Given the description of an element on the screen output the (x, y) to click on. 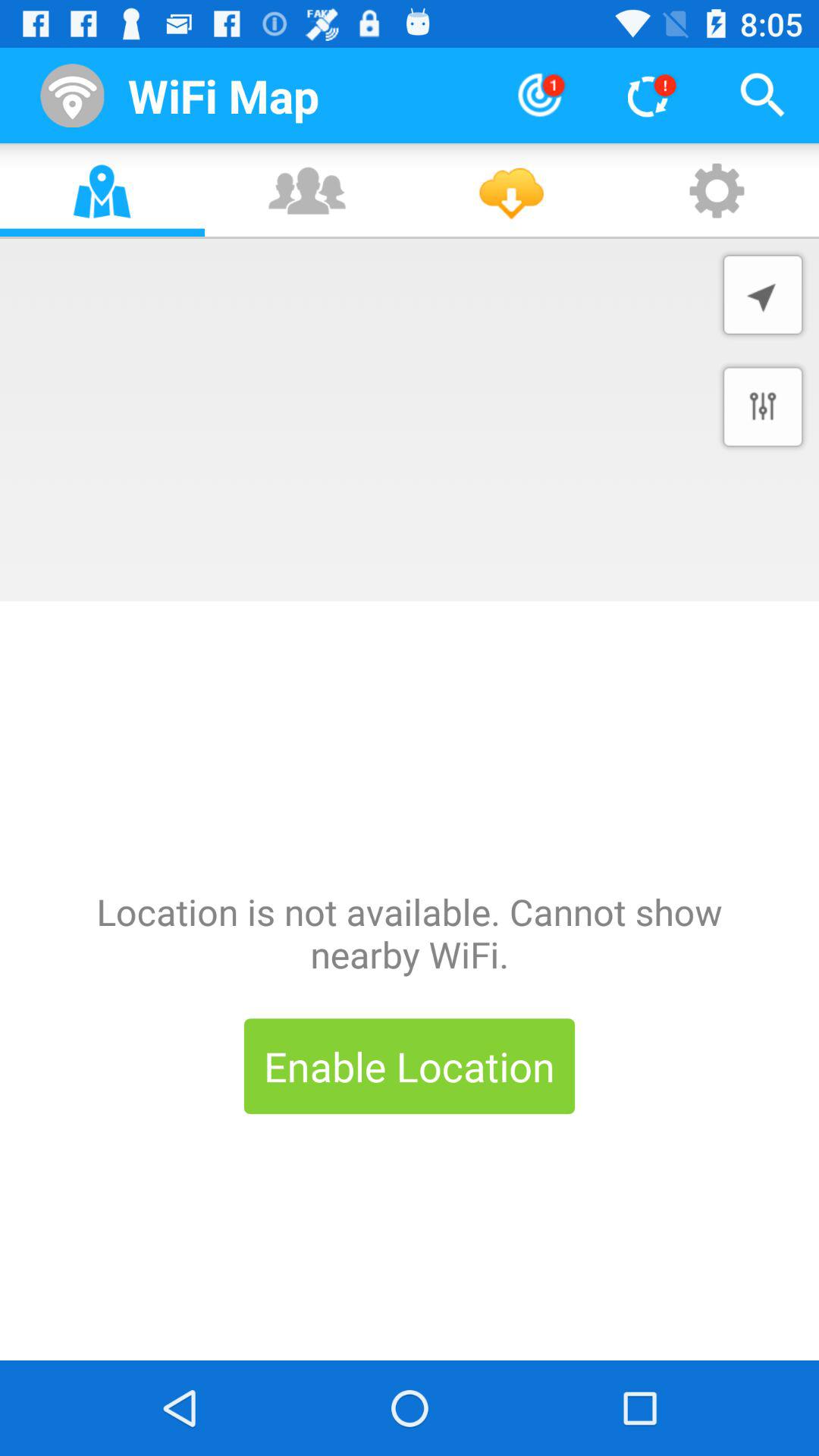
filter selection (762, 406)
